Given the description of an element on the screen output the (x, y) to click on. 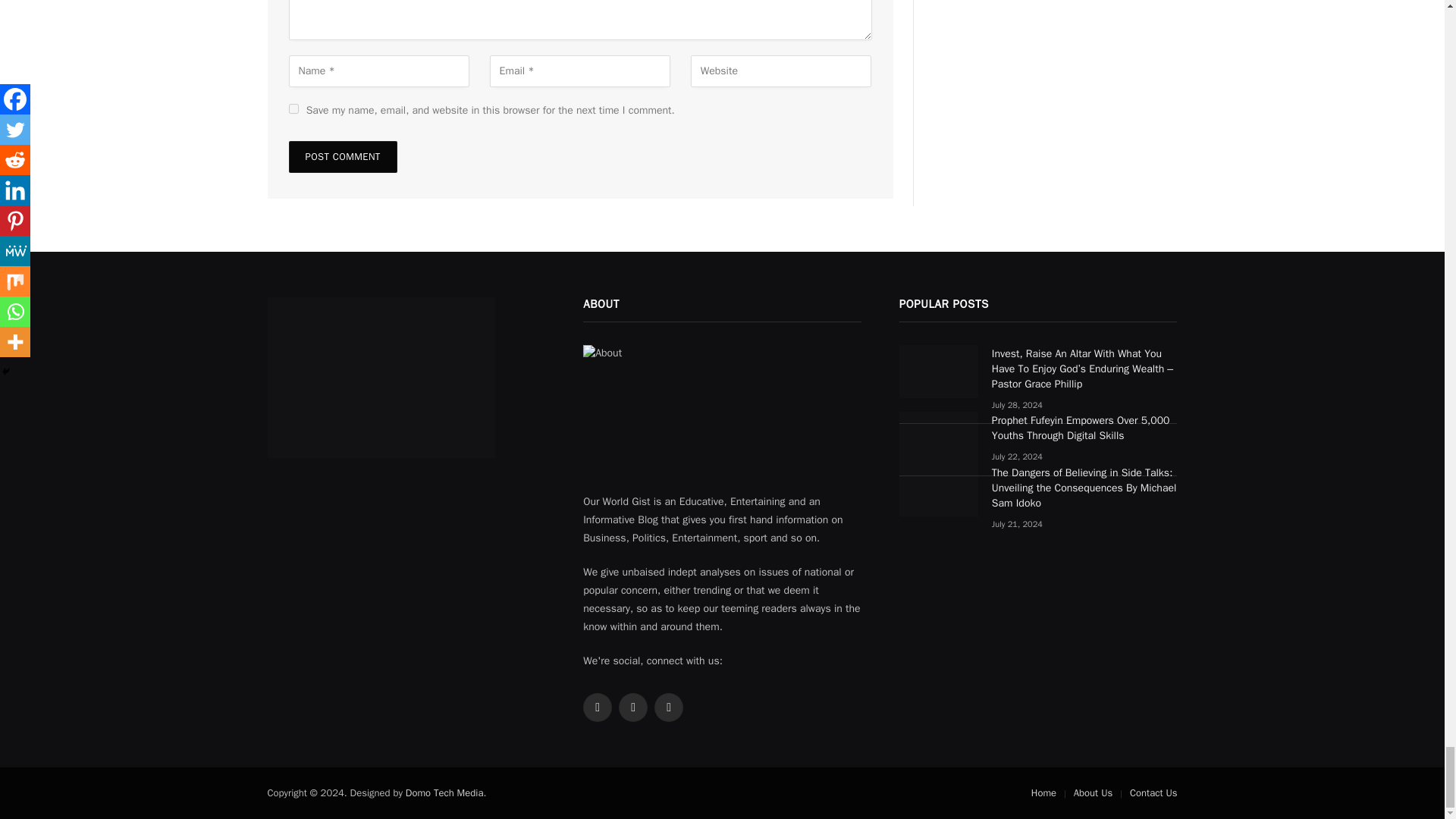
yes (293, 108)
Post Comment (342, 156)
